Given the description of an element on the screen output the (x, y) to click on. 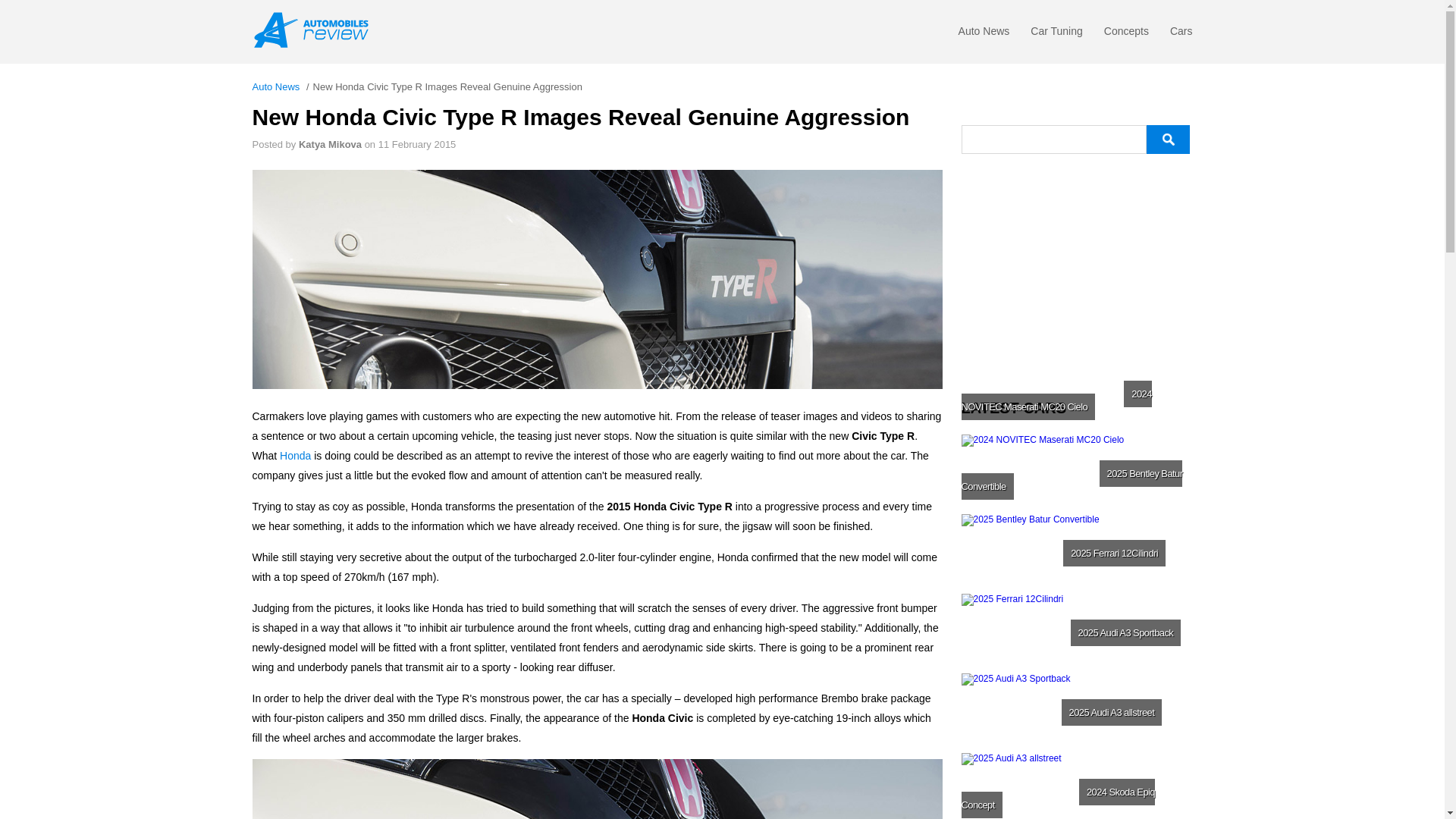
Concepts (1125, 35)
Auto News (984, 35)
Car Tuning (1055, 35)
Audi A3 Sportback (1074, 710)
Car Tuning (1055, 35)
Honda (295, 455)
LATEST CARS (1076, 407)
Automobilesreview.com (315, 30)
Concepts (1125, 35)
Ferrari 12Cilindri (1074, 630)
